Given the description of an element on the screen output the (x, y) to click on. 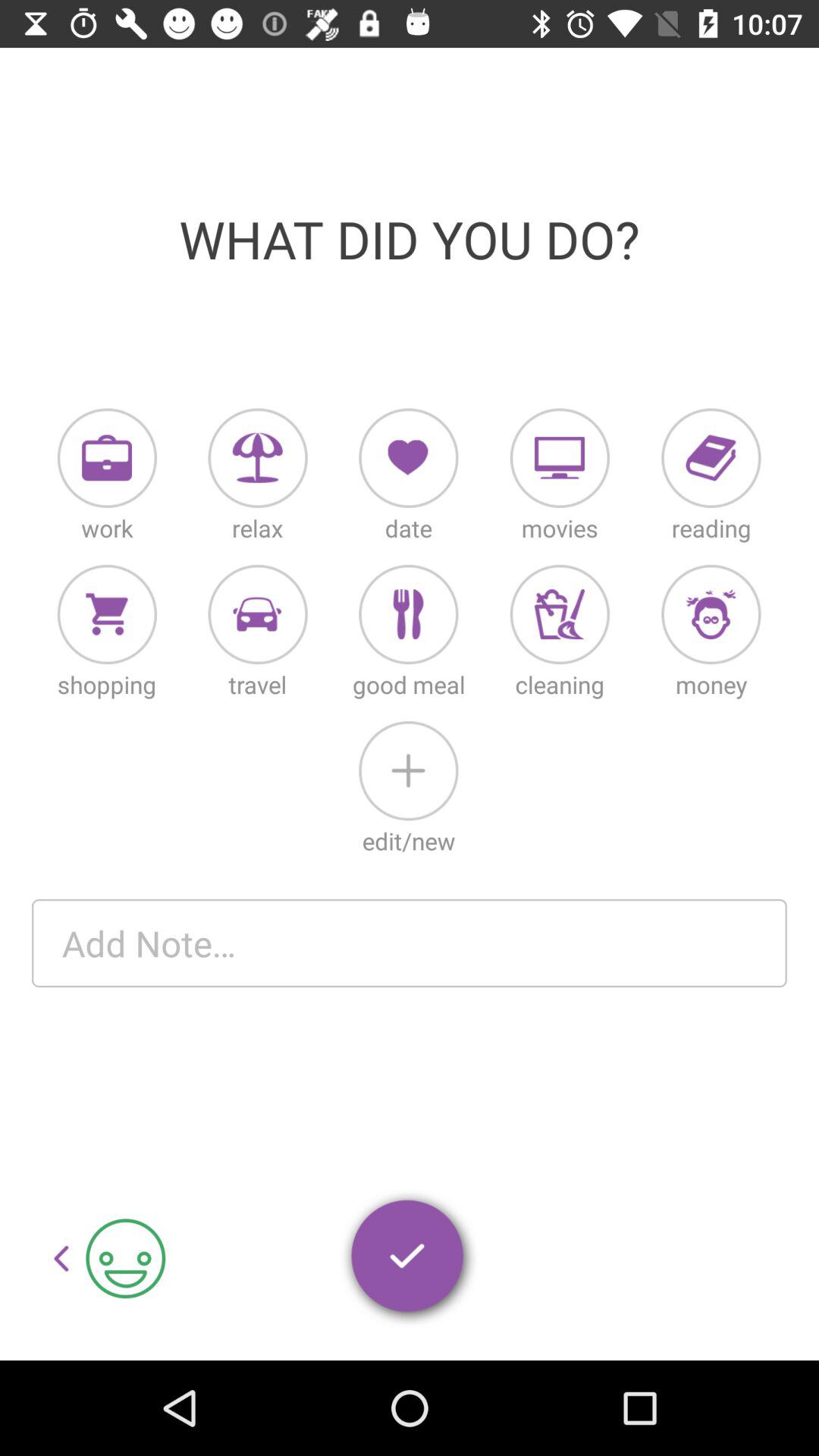
choose (710, 457)
